Given the description of an element on the screen output the (x, y) to click on. 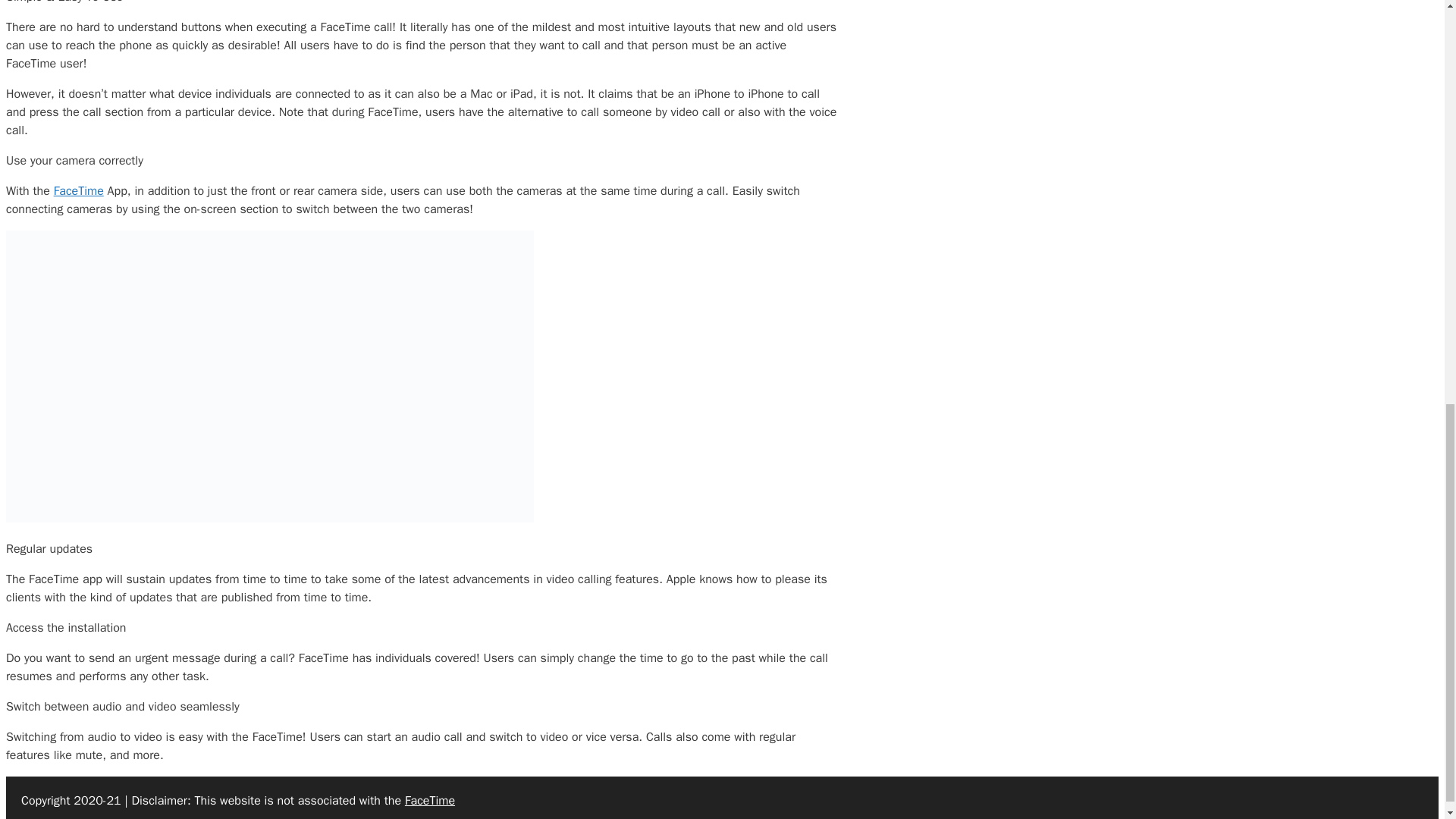
FaceTime (429, 800)
FaceTime (78, 191)
